Given the description of an element on the screen output the (x, y) to click on. 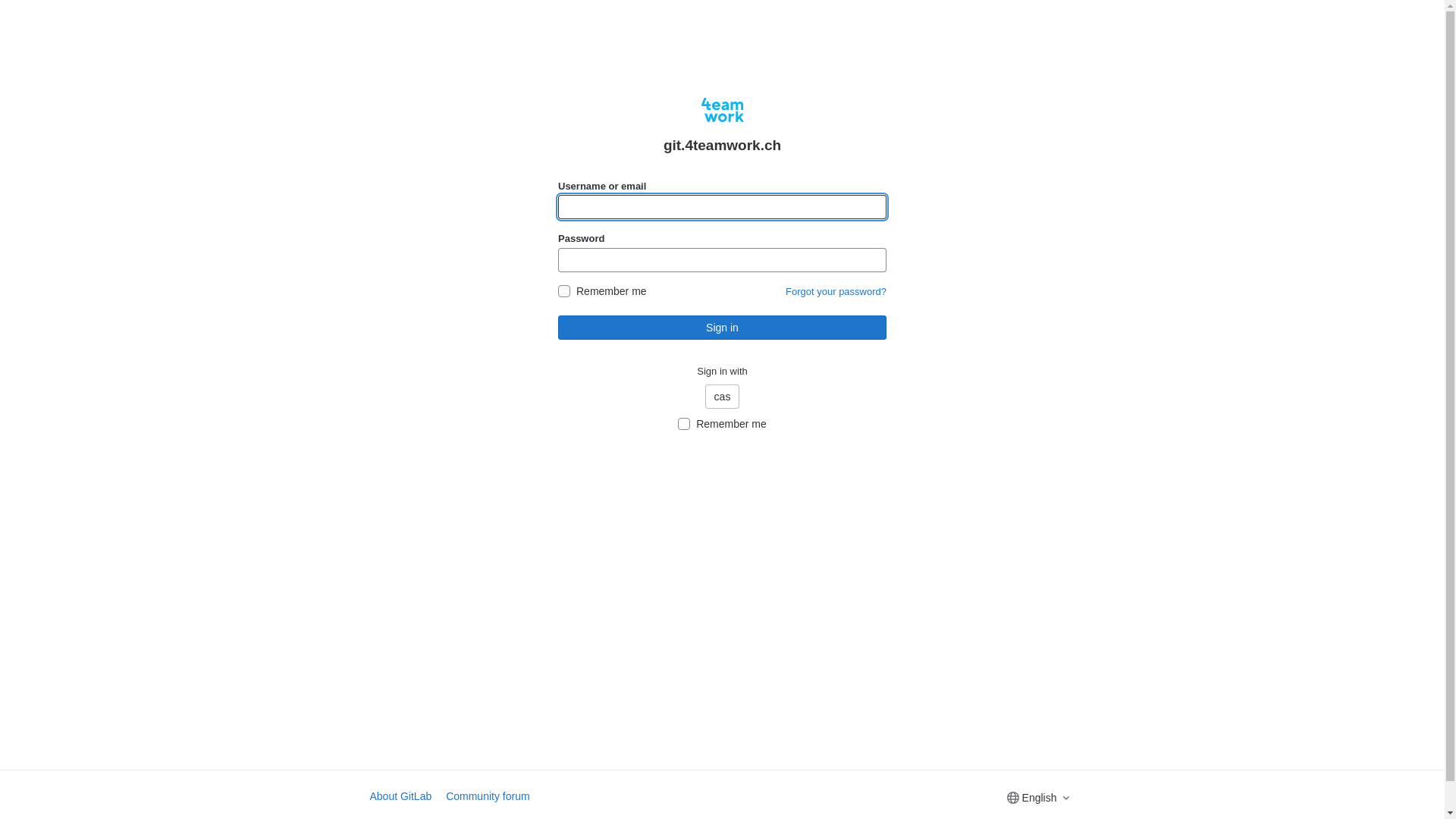
This field is required. Element type: hover (722, 259)
English Element type: text (1038, 797)
This field is required. Element type: hover (722, 206)
About GitLab Element type: text (401, 796)
Forgot your password? Element type: text (835, 291)
cas Element type: text (722, 396)
Community forum Element type: text (487, 796)
Sign in Element type: text (722, 327)
